Given the description of an element on the screen output the (x, y) to click on. 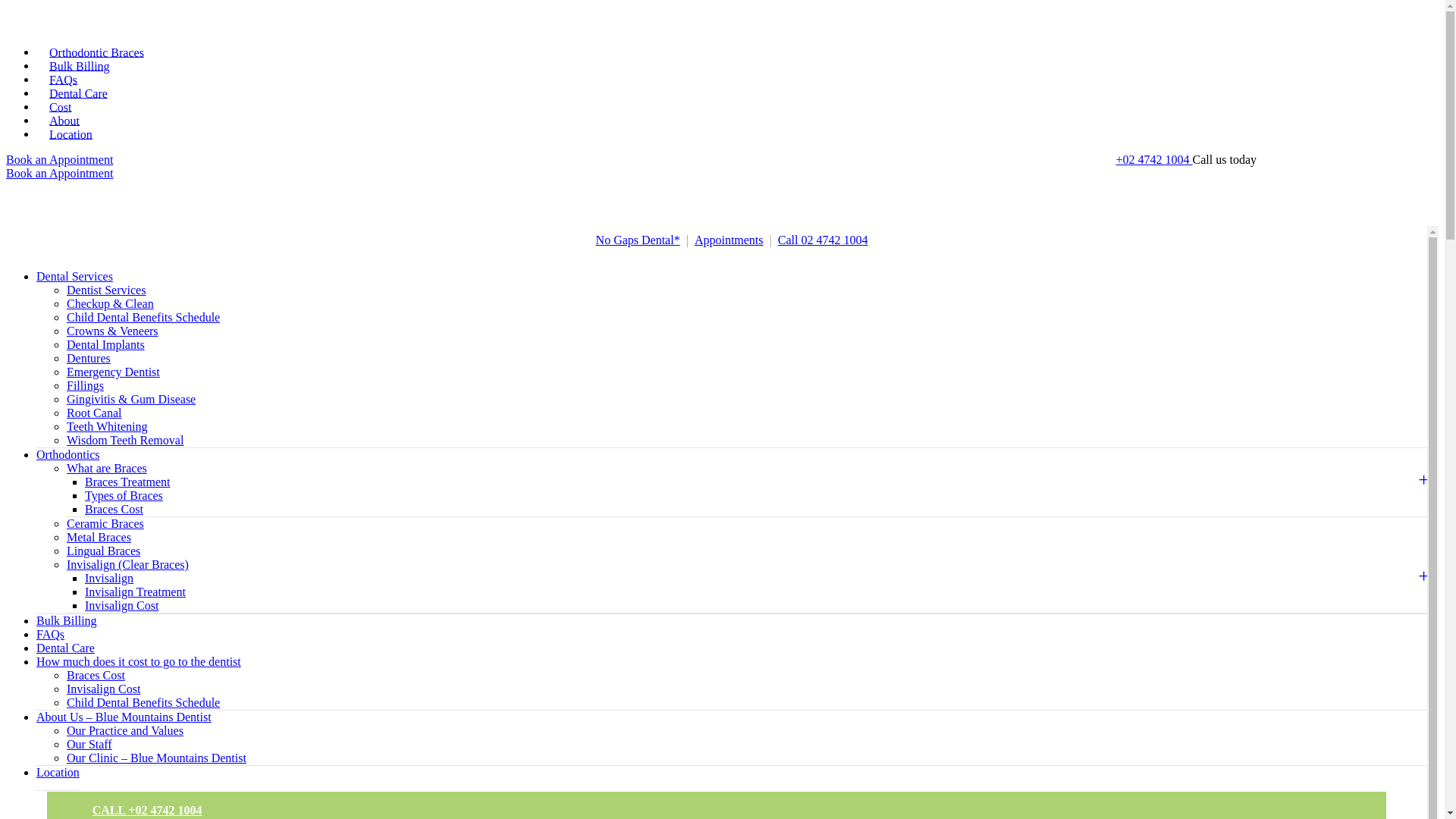
No Gaps Dental* Element type: text (638, 239)
Braces Cost Element type: text (113, 508)
Bulk Billing Element type: text (66, 620)
Our Staff Element type: text (89, 743)
Checkup & Clean Element type: text (109, 303)
Orthodontics Element type: text (68, 454)
Orthodontic Braces Element type: text (96, 52)
Call 02 4742 1004 Element type: text (823, 239)
Dentures Element type: text (88, 357)
Fillings Element type: text (84, 385)
Braces Cost Element type: text (95, 674)
Root Canal Element type: text (93, 412)
Book an Appointment Element type: text (59, 159)
Invisalign Element type: text (108, 577)
Appointments Element type: text (728, 239)
Dental Implants Element type: text (105, 344)
Book an Appointment Element type: text (59, 172)
Invisalign Treatment Element type: text (134, 591)
Invisalign Cost Element type: text (121, 605)
What are Braces Element type: text (106, 467)
Dental Care Element type: text (78, 93)
Invisalign Cost Element type: text (103, 688)
Types of Braces Element type: text (123, 495)
Our Practice and Values Element type: text (124, 730)
Ceramic Braces Element type: text (105, 523)
About Element type: text (64, 120)
Metal Braces Element type: text (98, 536)
Dentist Services Element type: text (105, 289)
FAQs Element type: text (63, 79)
Cost Element type: text (60, 106)
Teeth Whitening Element type: text (106, 426)
Crowns & Veneers Element type: text (112, 330)
Location Element type: text (57, 772)
Child Dental Benefits Schedule Element type: text (142, 316)
Gingivitis & Gum Disease Element type: text (130, 398)
Dentist Element type: text (66, 38)
Emergency Dentist Element type: text (113, 371)
How much does it cost to go to the dentist Element type: text (138, 661)
FAQs Element type: text (50, 634)
Dental Services Element type: text (74, 276)
Invisalign (Clear Braces) Element type: text (127, 564)
Lingual Braces Element type: text (103, 550)
Bulk Billing Element type: text (79, 65)
Braces Treatment Element type: text (126, 481)
Wisdom Teeth Removal Element type: text (124, 439)
Dental Care Element type: text (65, 647)
+02 4742 1004 Element type: text (1154, 159)
Child Dental Benefits Schedule Element type: text (142, 702)
Location Element type: text (70, 134)
